Given the description of an element on the screen output the (x, y) to click on. 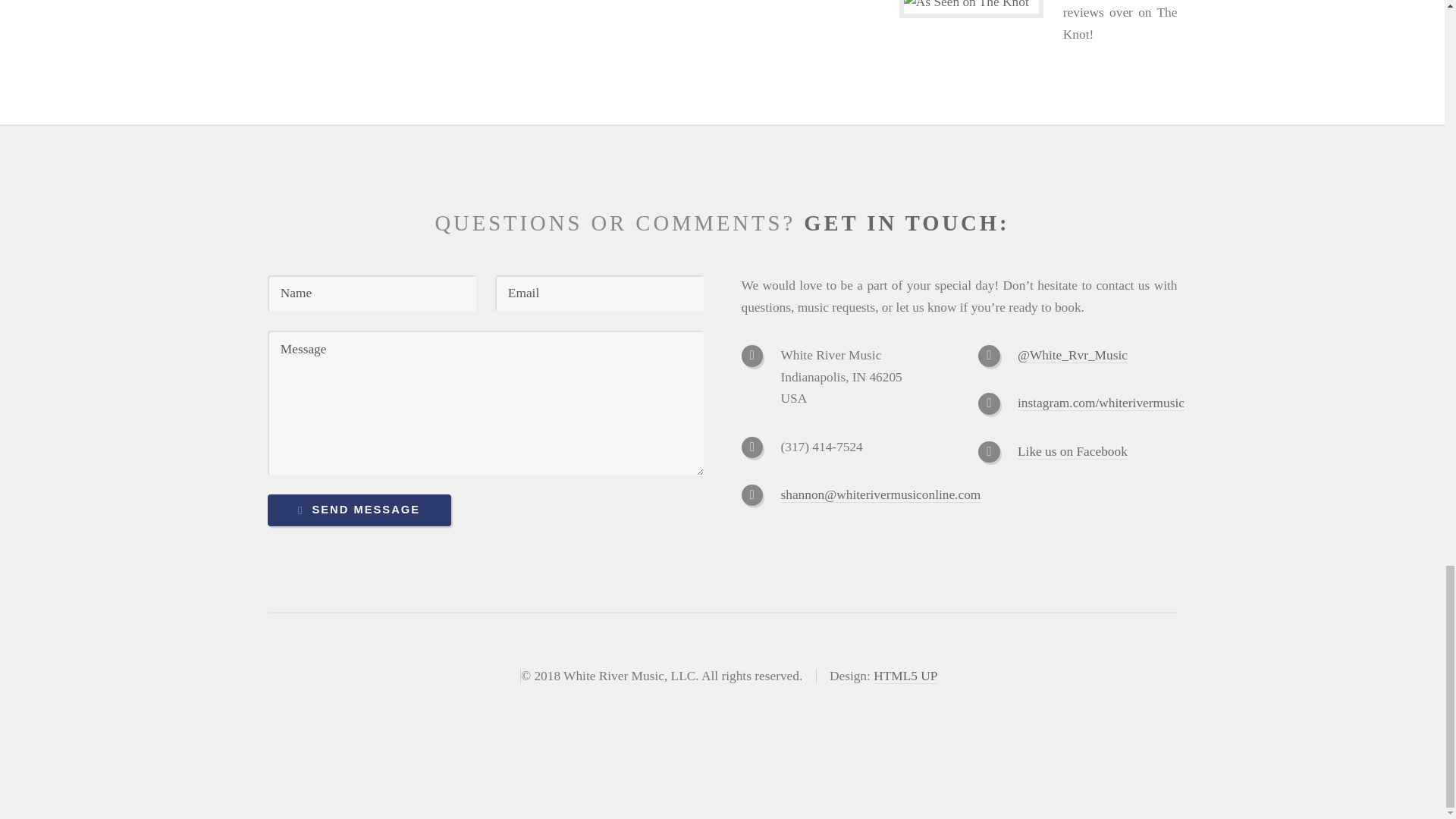
HTML5 UP (905, 676)
Like us on Facebook (1071, 451)
SEND MESSAGE (357, 510)
